Given the description of an element on the screen output the (x, y) to click on. 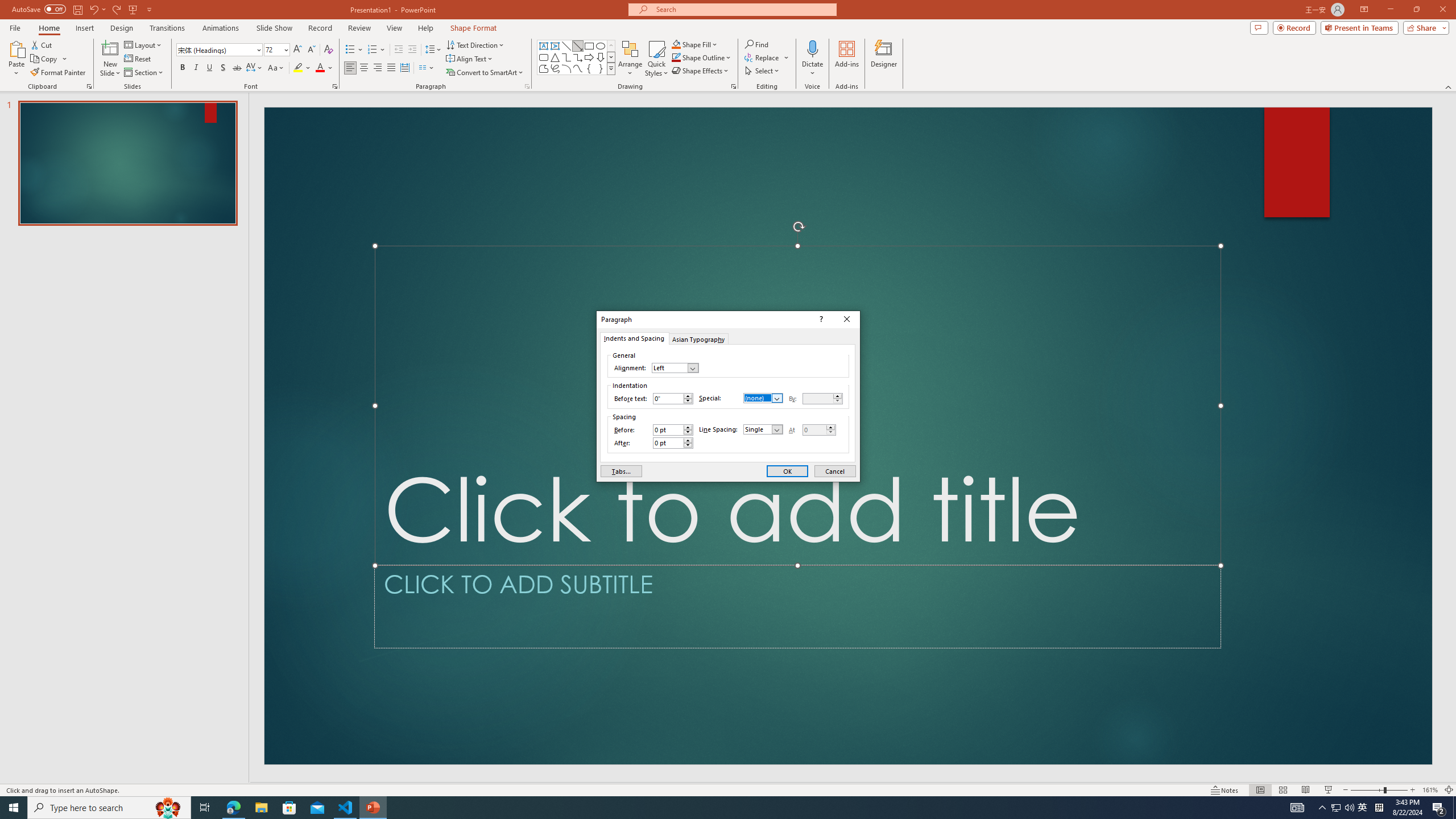
Asian Typography (698, 337)
Text Direction (476, 44)
Shape Outline Blue, Accent 1 (675, 56)
Format Object... (733, 85)
Format Painter (58, 72)
Less (830, 431)
Context help (1335, 807)
